Given the description of an element on the screen output the (x, y) to click on. 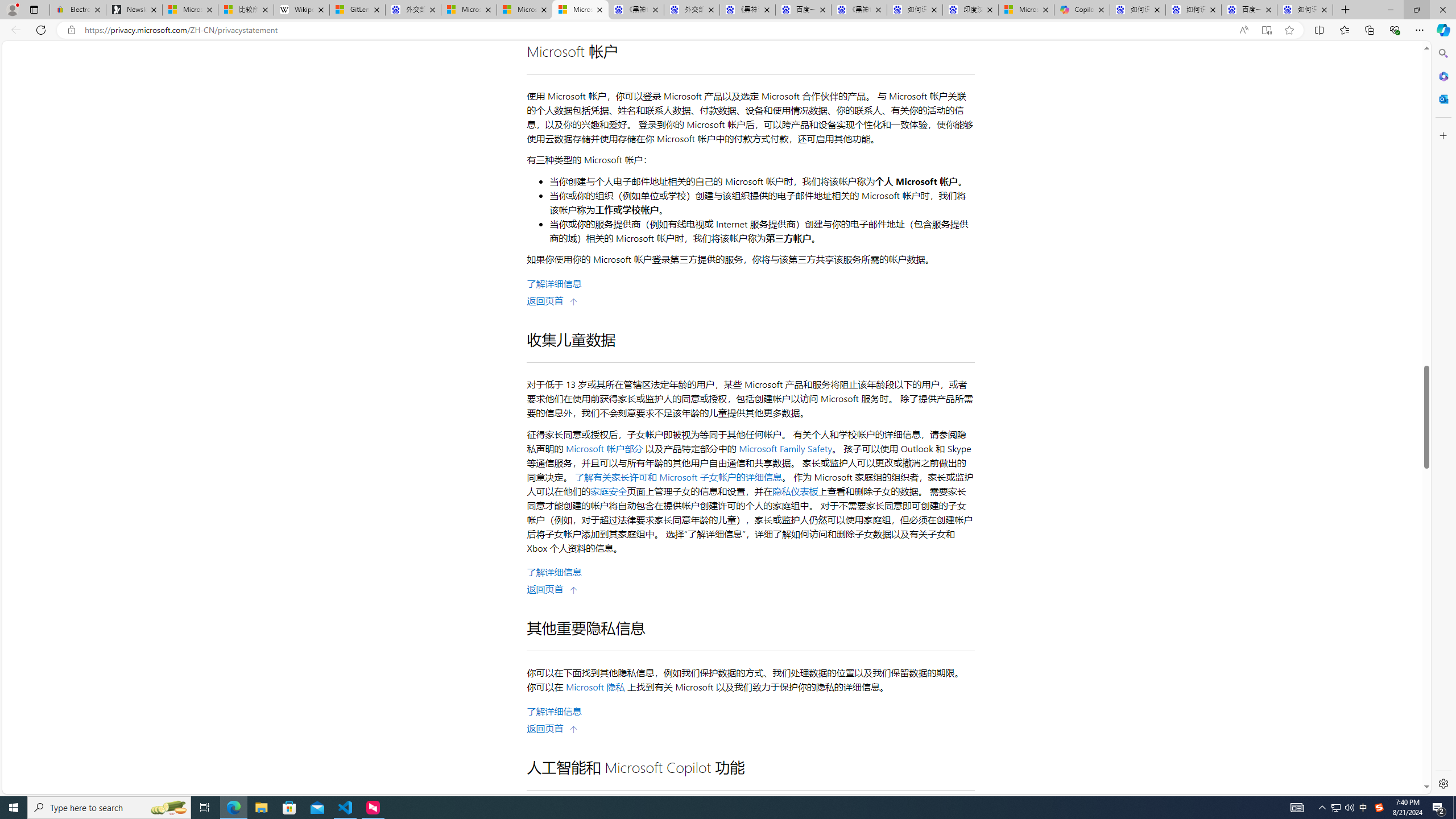
Copilot (1082, 9)
